Given the description of an element on the screen output the (x, y) to click on. 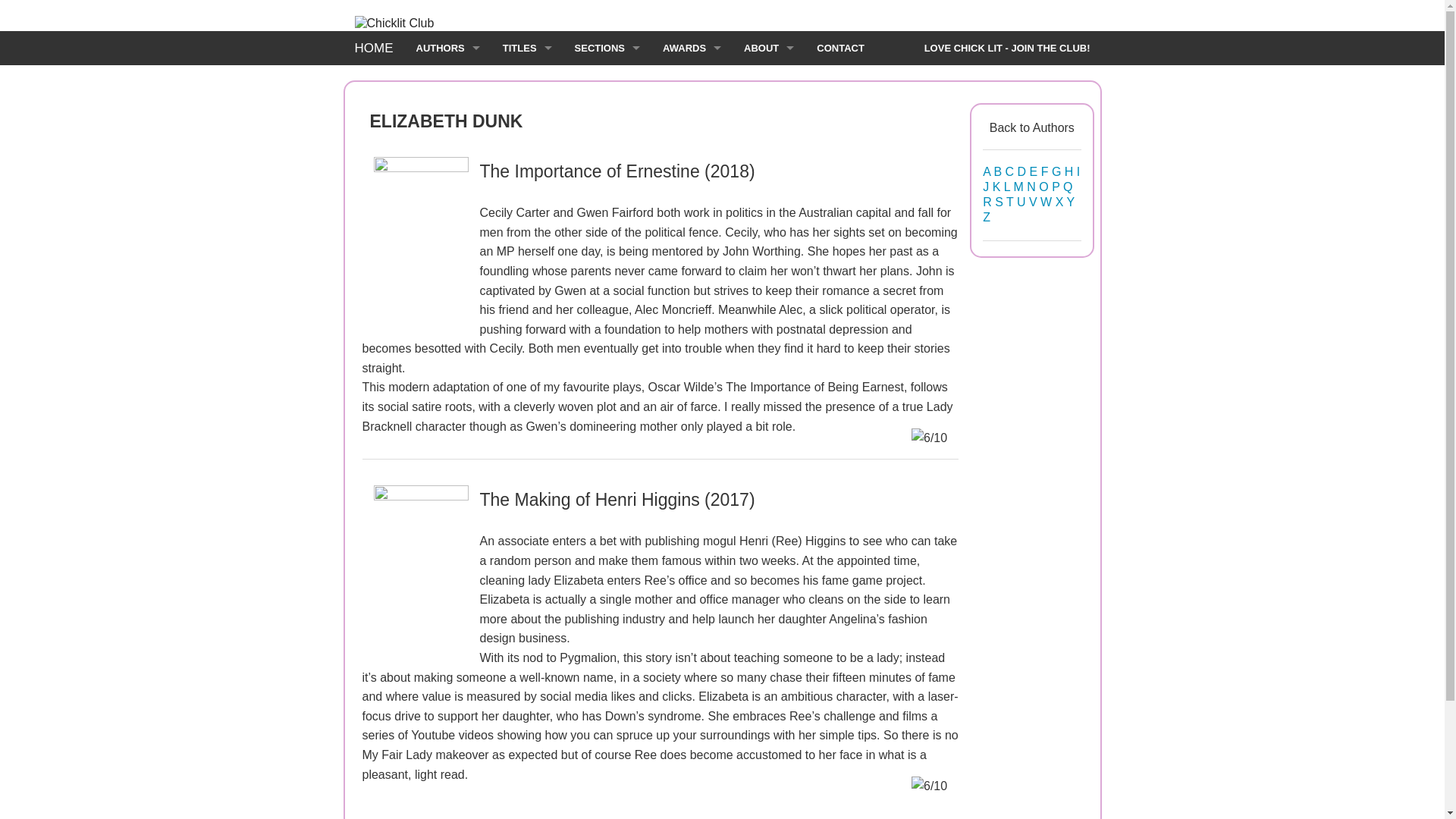
AUTHORS (448, 48)
Australian Made (606, 150)
New Releases (527, 150)
HOME (373, 48)
Movies (606, 82)
Classic Reads (606, 184)
Dream Themes (606, 252)
New Adult (606, 355)
Digital Domain (606, 218)
High Raters (527, 116)
